Given the description of an element on the screen output the (x, y) to click on. 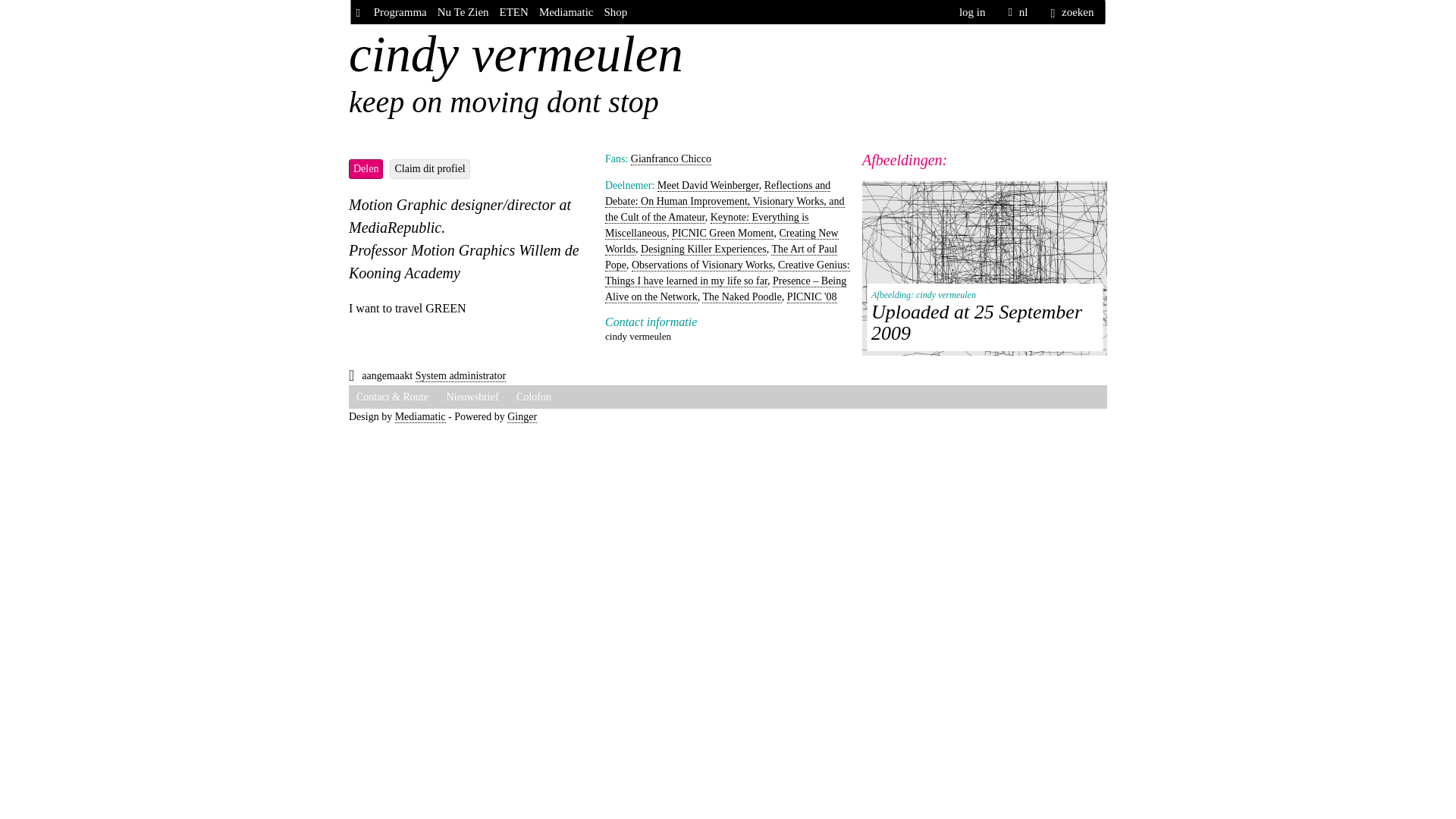
Log in (972, 12)
Claim dit profiel (429, 168)
zoeken (1072, 12)
The Art of Paul Pope (721, 257)
Programma (400, 12)
Keynote: Everything is Miscellaneous (707, 225)
Designing Killer Experiences (703, 249)
nl (1018, 12)
Shop (615, 12)
